Given the description of an element on the screen output the (x, y) to click on. 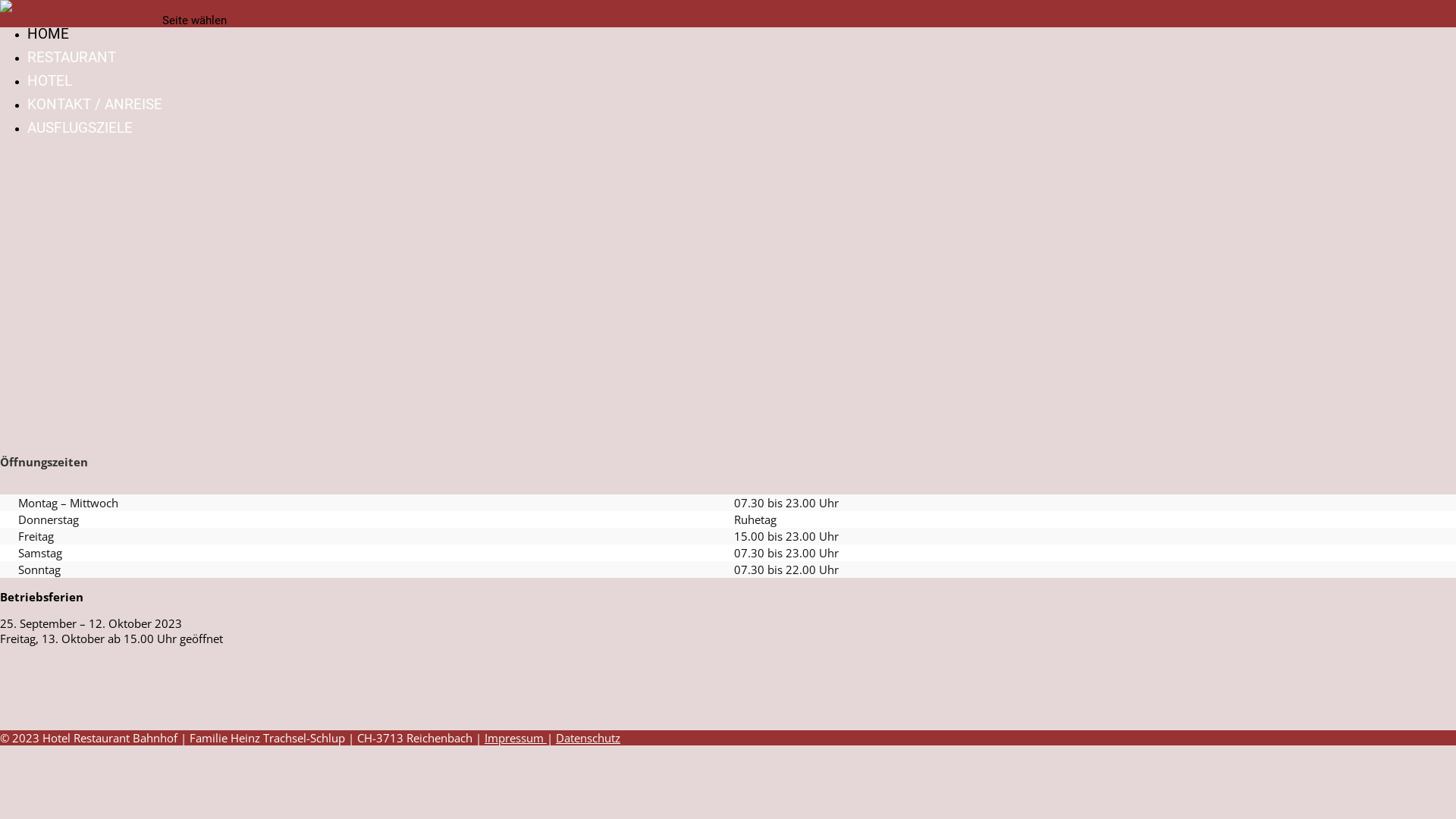
Datenschutz Element type: text (587, 737)
KONTAKT / ANREISE Element type: text (94, 103)
AUSFLUGSZIELE Element type: text (79, 127)
RESTAURANT Element type: text (71, 56)
Impressum Element type: text (515, 737)
HOME Element type: text (48, 33)
HOTEL Element type: text (49, 80)
